Given the description of an element on the screen output the (x, y) to click on. 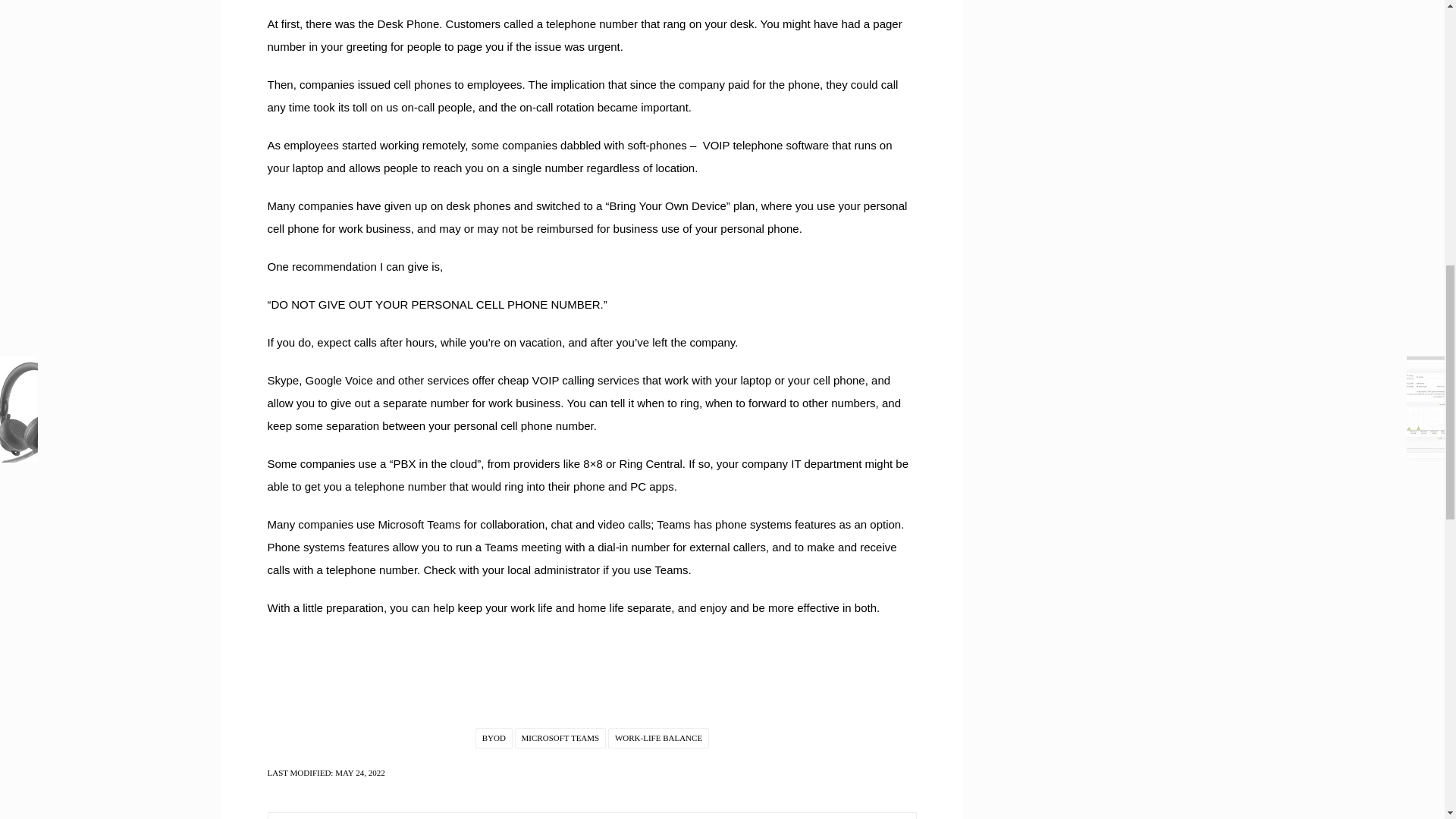
BYOD (494, 738)
MICROSOFT TEAMS (561, 738)
WORK-LIFE BALANCE (658, 738)
